Given the description of an element on the screen output the (x, y) to click on. 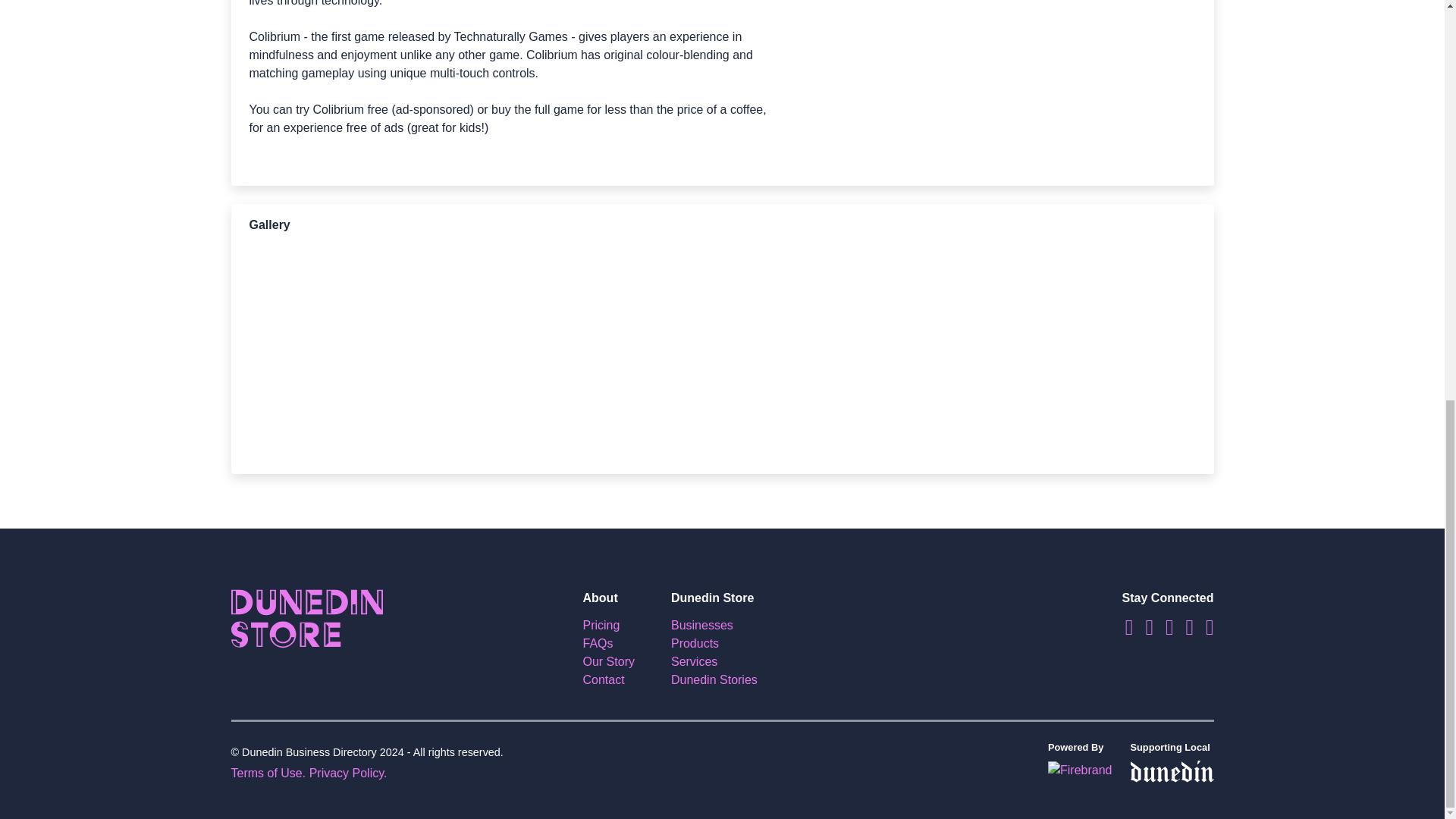
Dunedin Store Instagram (1142, 630)
Privacy Policy. (347, 772)
Services (694, 661)
FAQs (597, 643)
Dunedin Store Youtube (1183, 630)
Pricing (601, 625)
Dunedin Store LinkedIn (1203, 630)
Dunedin Store (305, 617)
Dunedin Store TikTok (1163, 630)
Contact (603, 679)
